Given the description of an element on the screen output the (x, y) to click on. 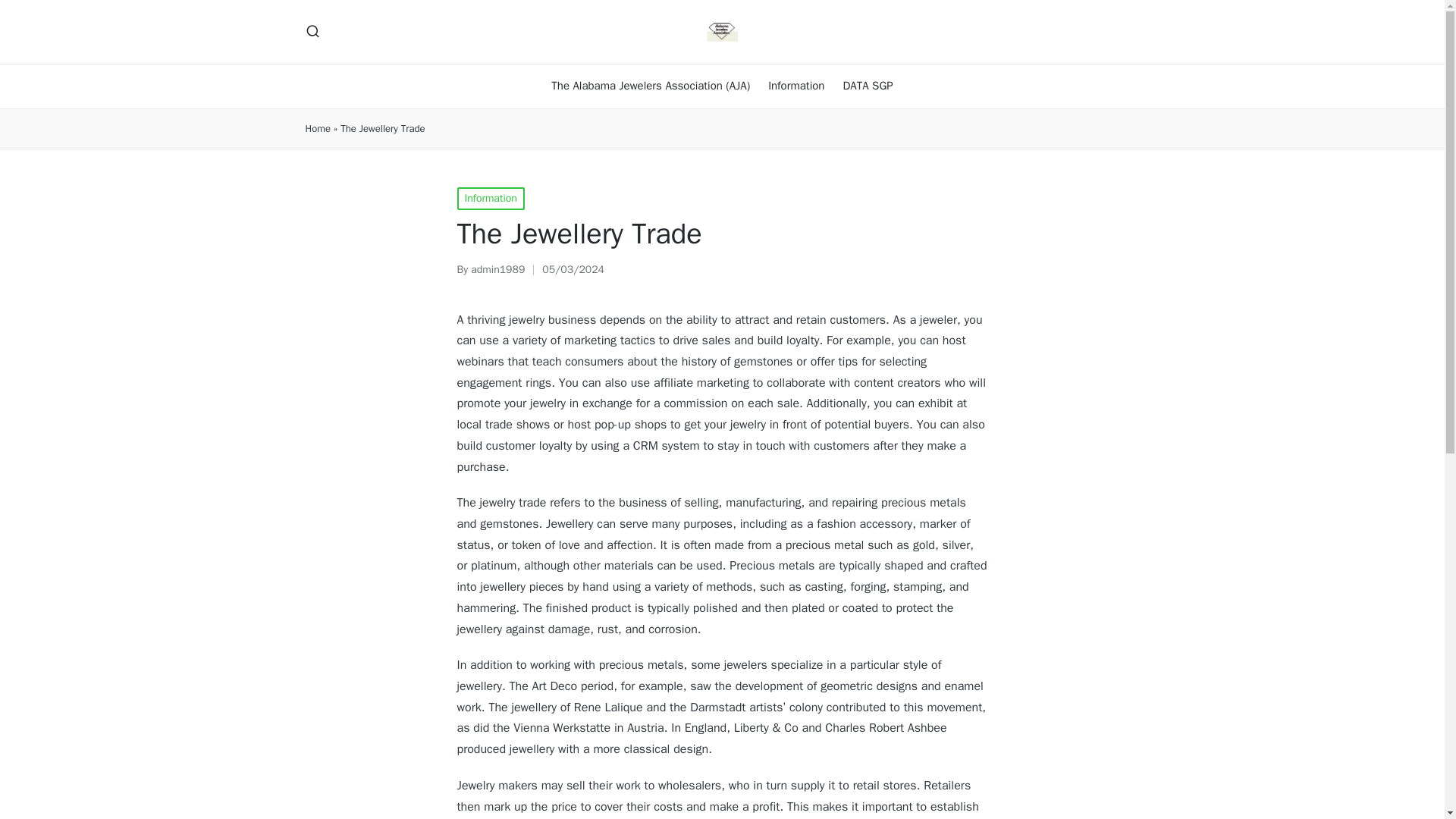
admin1989 (497, 269)
Home (317, 129)
Information (490, 198)
DATA SGP (867, 86)
View all posts by admin1989 (497, 269)
Information (796, 86)
